Given the description of an element on the screen output the (x, y) to click on. 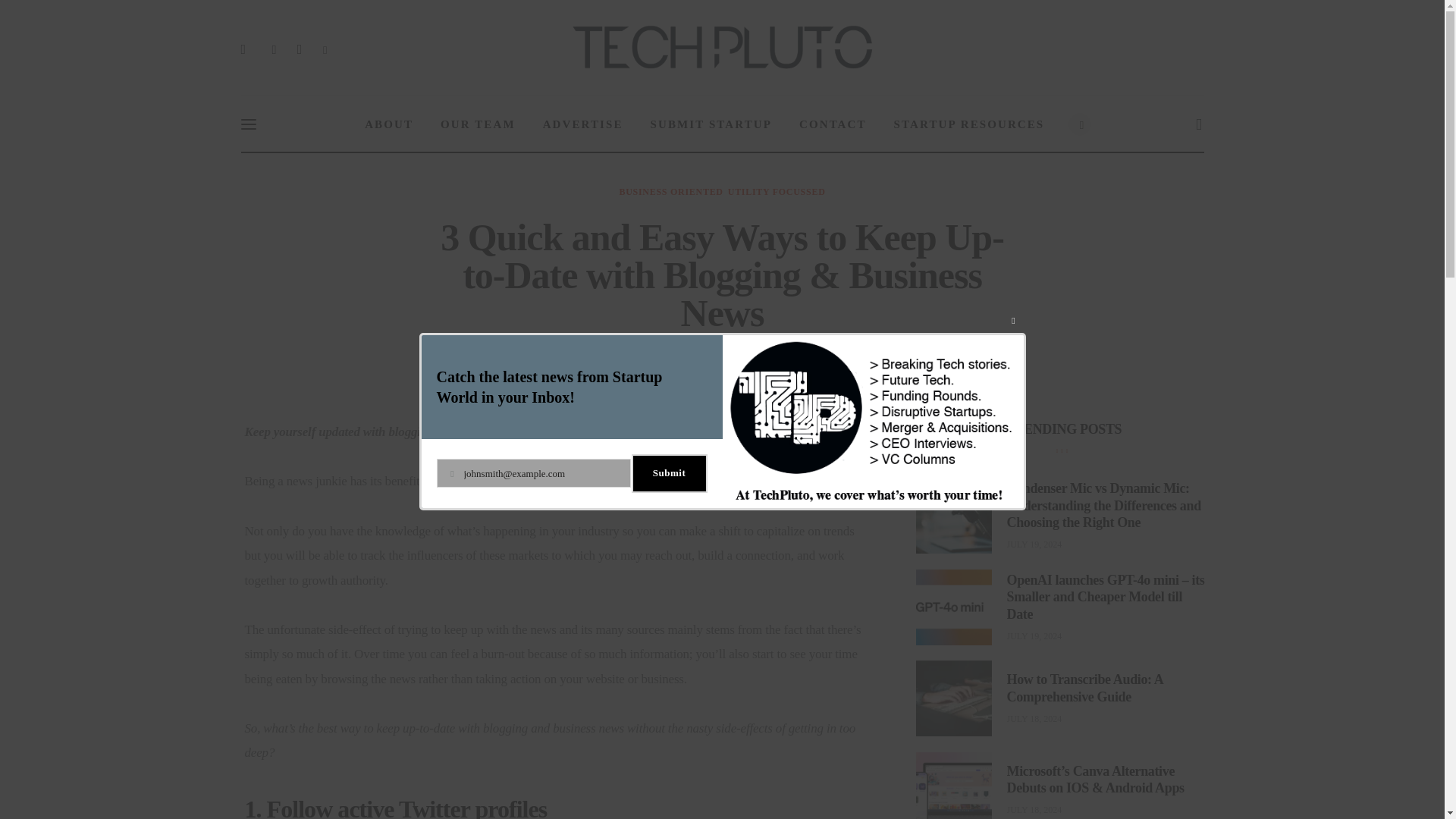
UTILITY FOCUSSED (776, 191)
SUBMIT STARTUP (711, 124)
OUR TEAM (477, 124)
CONTACT (833, 124)
ADVERTISE (583, 124)
ABOUT (388, 124)
STARTUP RESOURCES (969, 124)
BUSINESS ORIENTED (670, 191)
Tips for Online Business Development (659, 357)
